Given the description of an element on the screen output the (x, y) to click on. 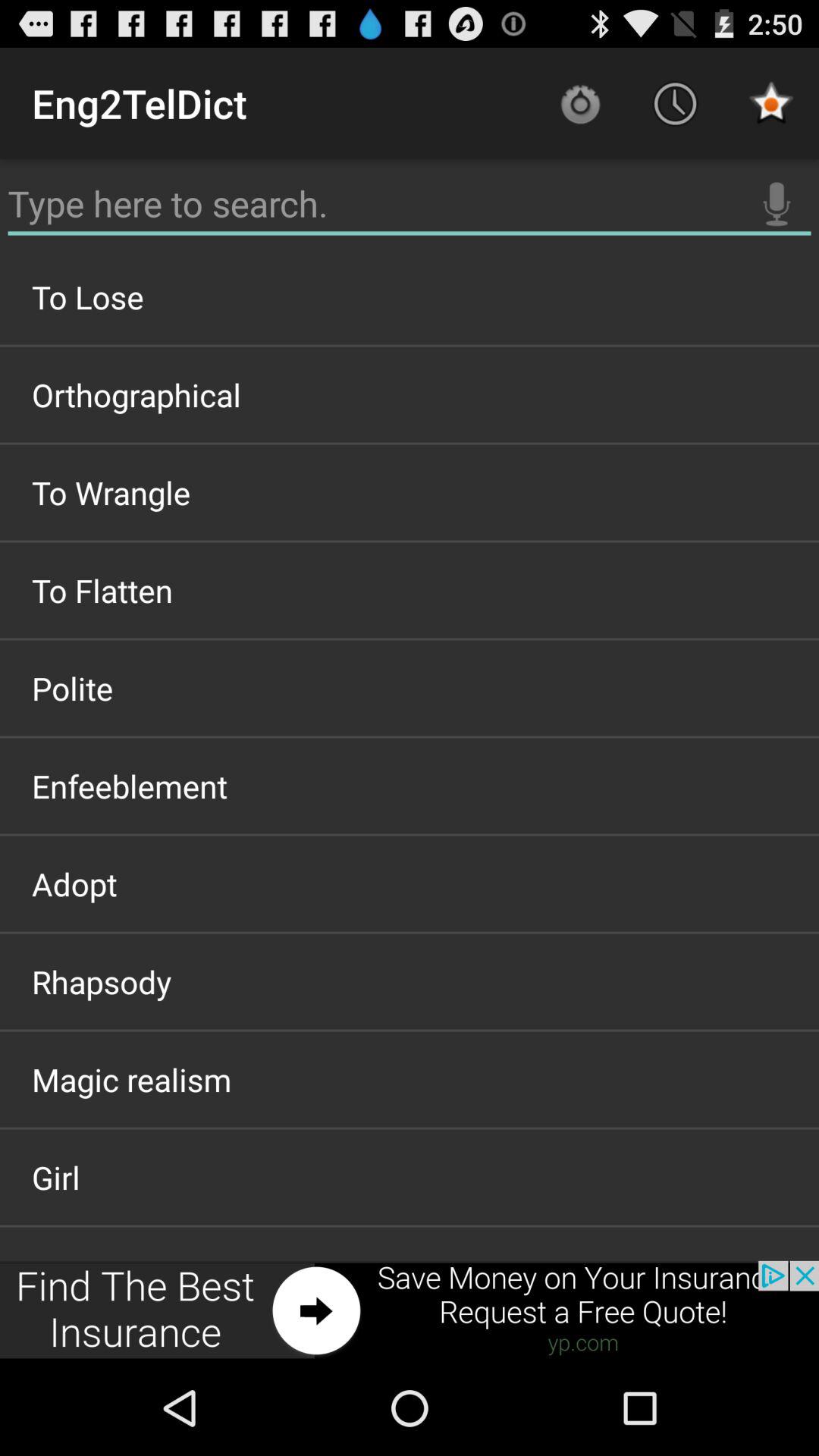
press the item above the to flatten item (409, 492)
